Given the description of an element on the screen output the (x, y) to click on. 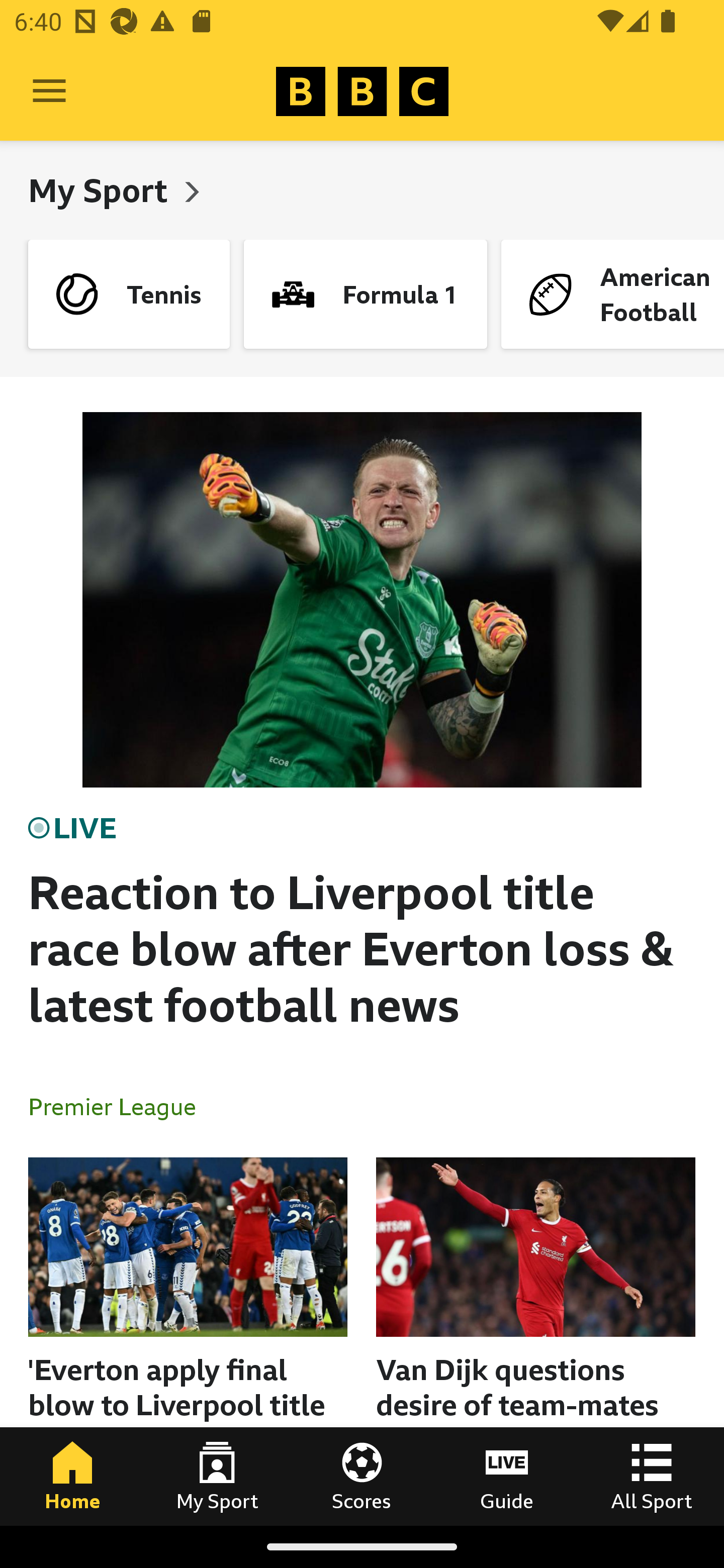
Open Menu (49, 91)
My Sport (101, 190)
Premier League In the section Premier League (119, 1106)
My Sport (216, 1475)
Scores (361, 1475)
Guide (506, 1475)
All Sport (651, 1475)
